Given the description of an element on the screen output the (x, y) to click on. 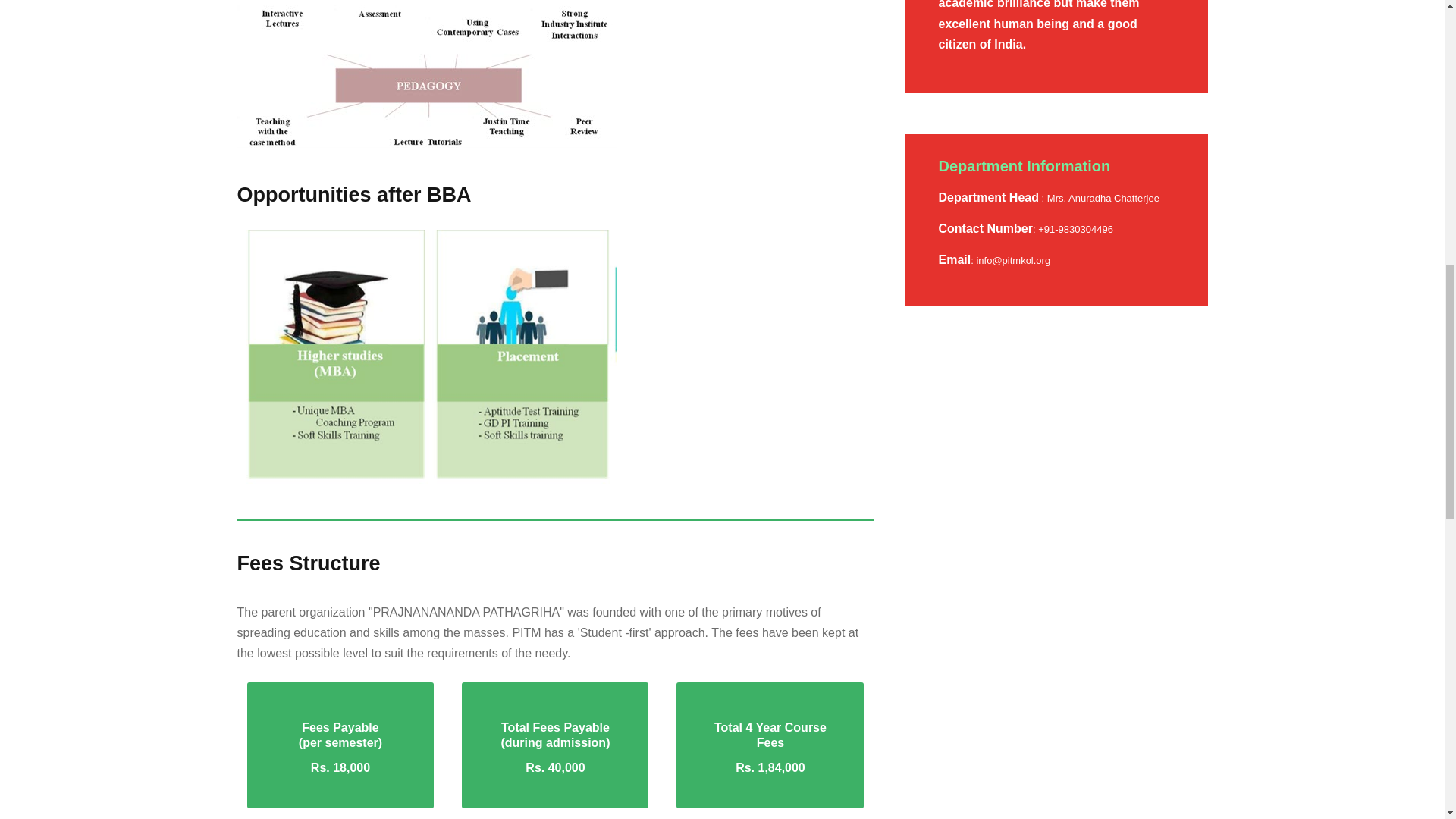
about-icon-1 (425, 76)
about-icon-1 (425, 357)
